Given the description of an element on the screen output the (x, y) to click on. 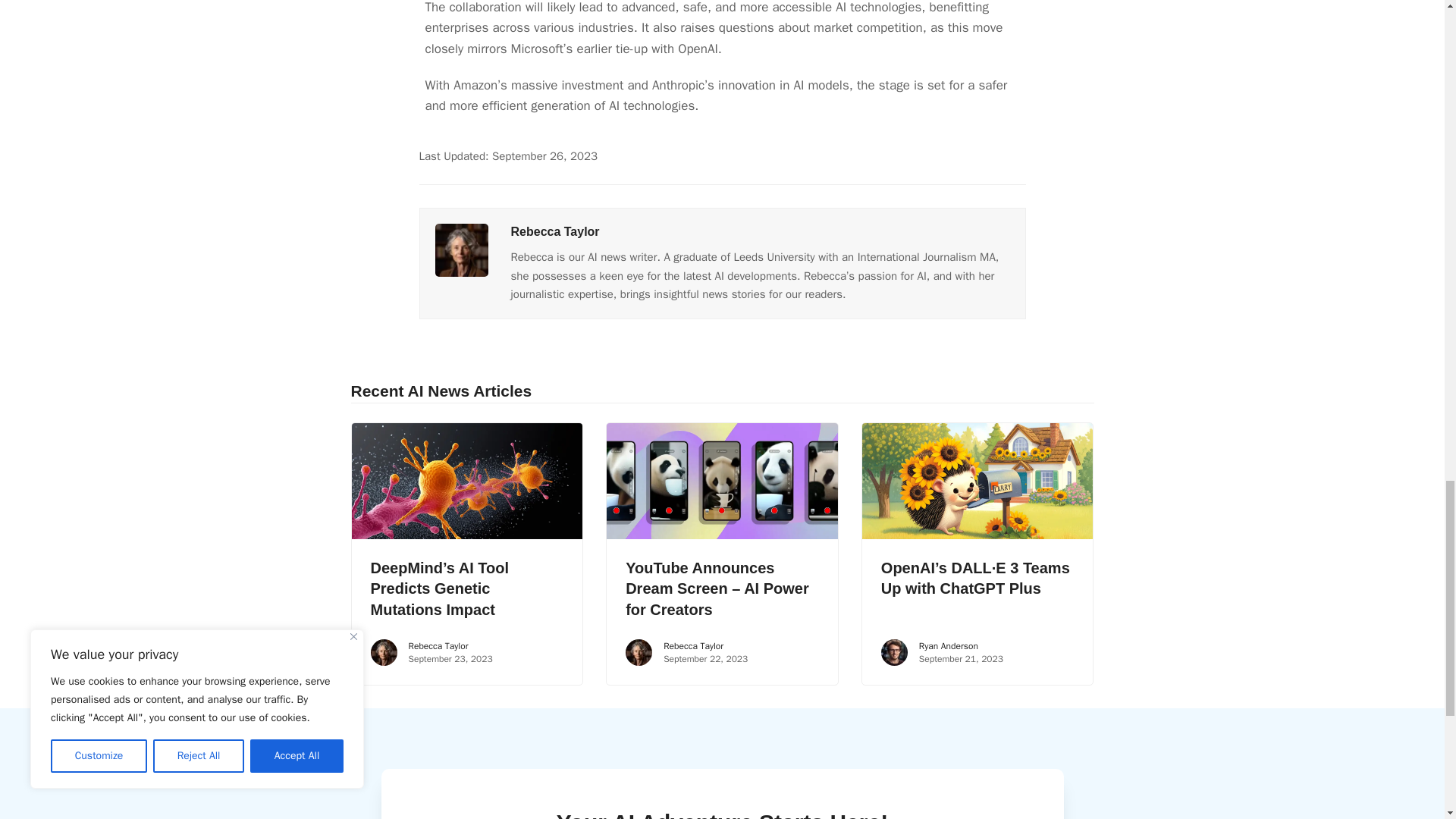
Visit Author Page (461, 249)
Visit Author Page (555, 231)
